Given the description of an element on the screen output the (x, y) to click on. 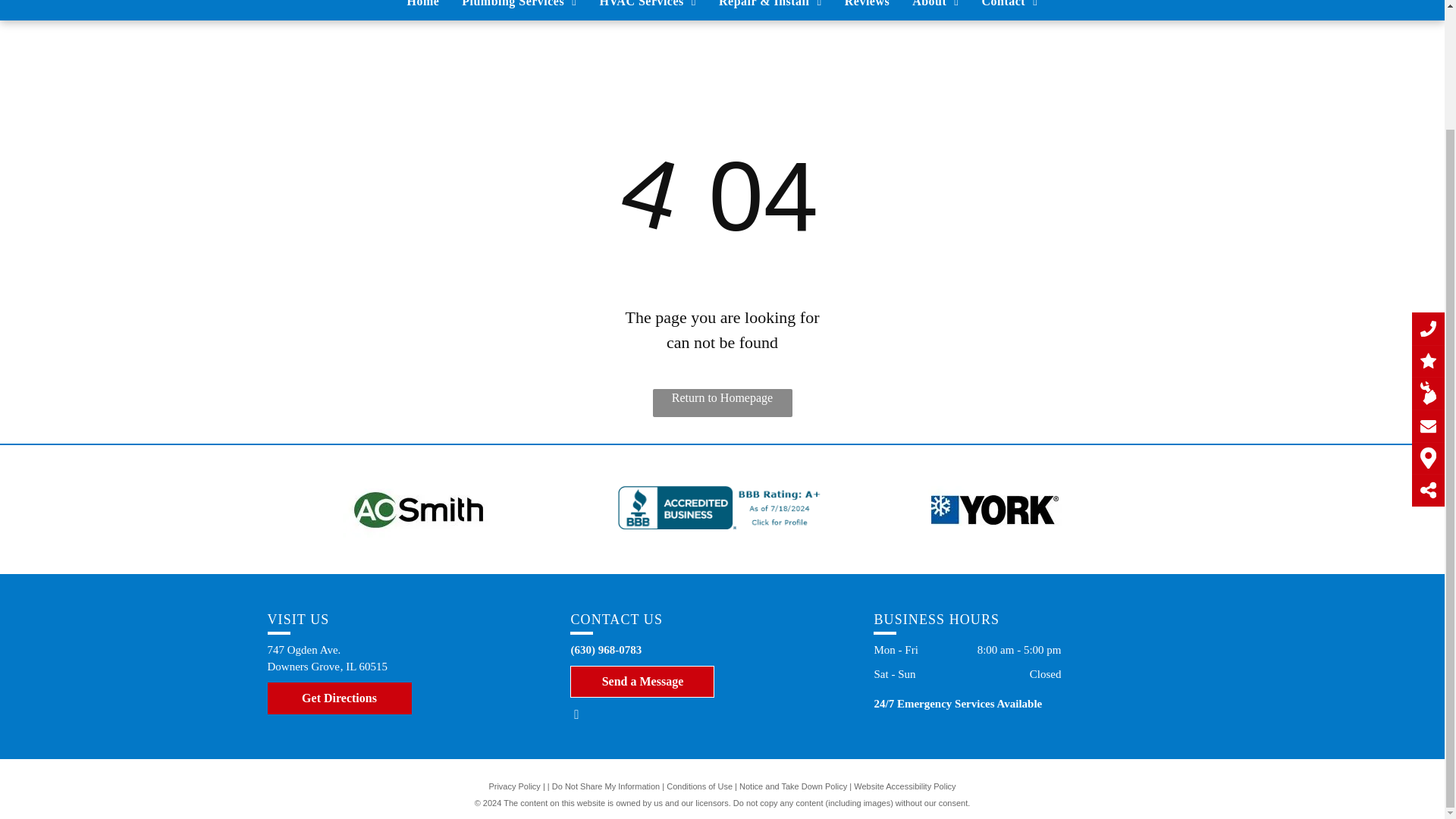
Send a Message (642, 681)
Return to Homepage (722, 402)
About (935, 7)
Reviews (866, 7)
Home (423, 7)
HVAC Services (647, 7)
Get Directions (338, 698)
Plumbing Services (518, 7)
Contact (1010, 7)
